Given the description of an element on the screen output the (x, y) to click on. 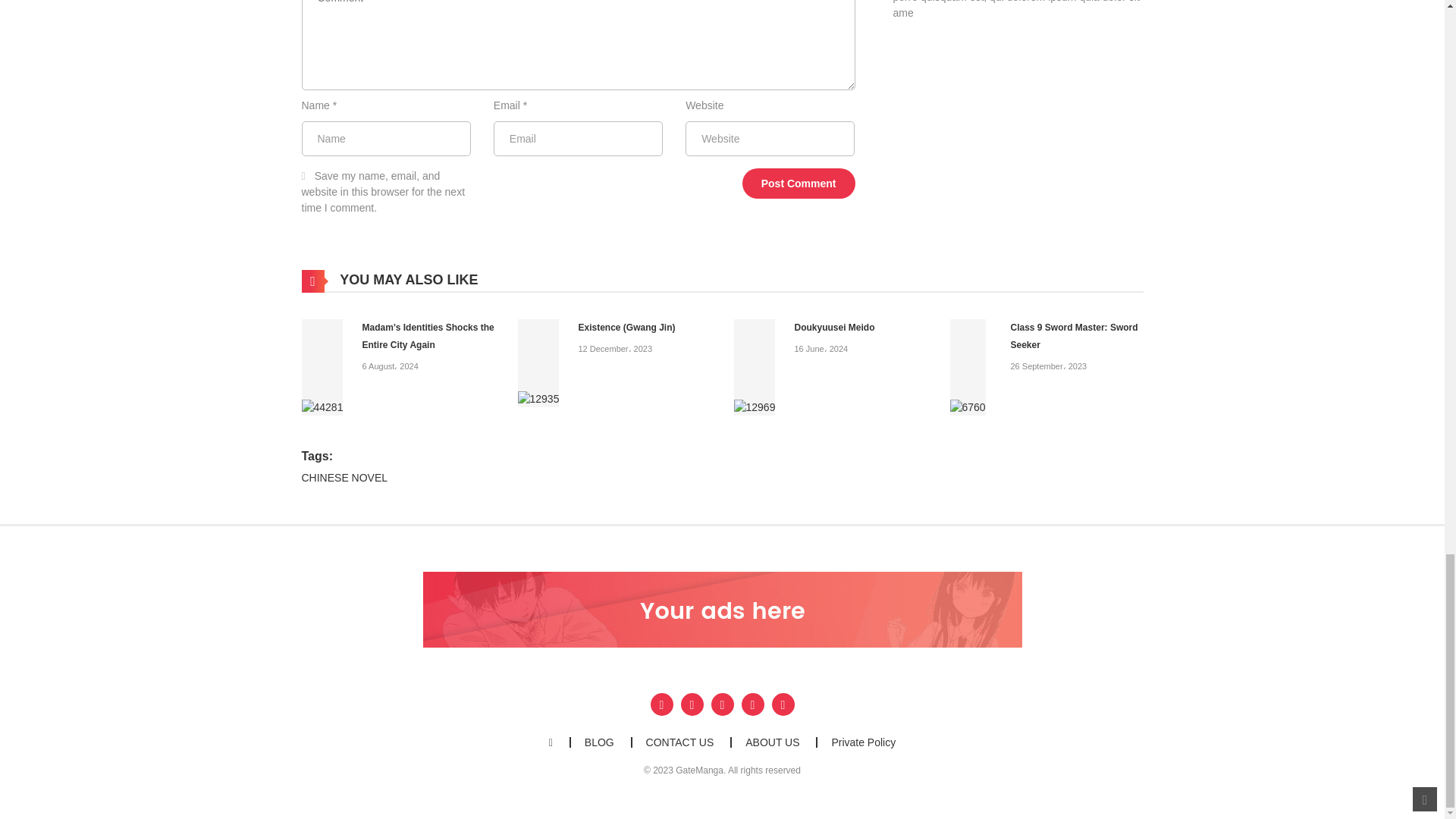
Doukyuusei Meido (834, 327)
Class 9 Sword Master: Sword Seeker (967, 367)
Doukyuusei Meido (754, 367)
Post Comment (799, 183)
